Given the description of an element on the screen output the (x, y) to click on. 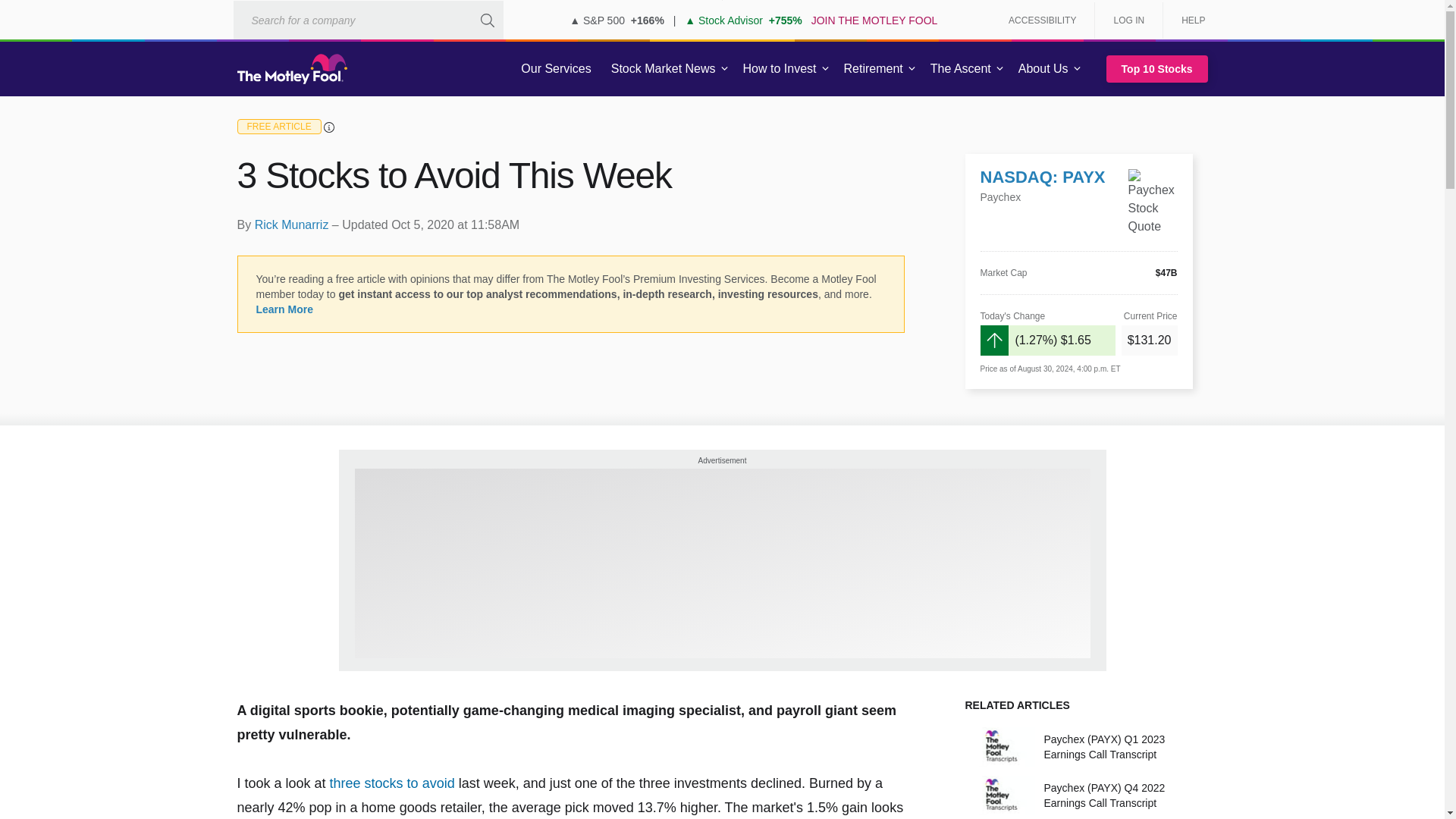
How to Invest (779, 68)
Stock Market News (662, 68)
LOG IN (1128, 19)
ACCESSIBILITY (1042, 19)
Our Services (555, 68)
HELP (1187, 19)
